Given the description of an element on the screen output the (x, y) to click on. 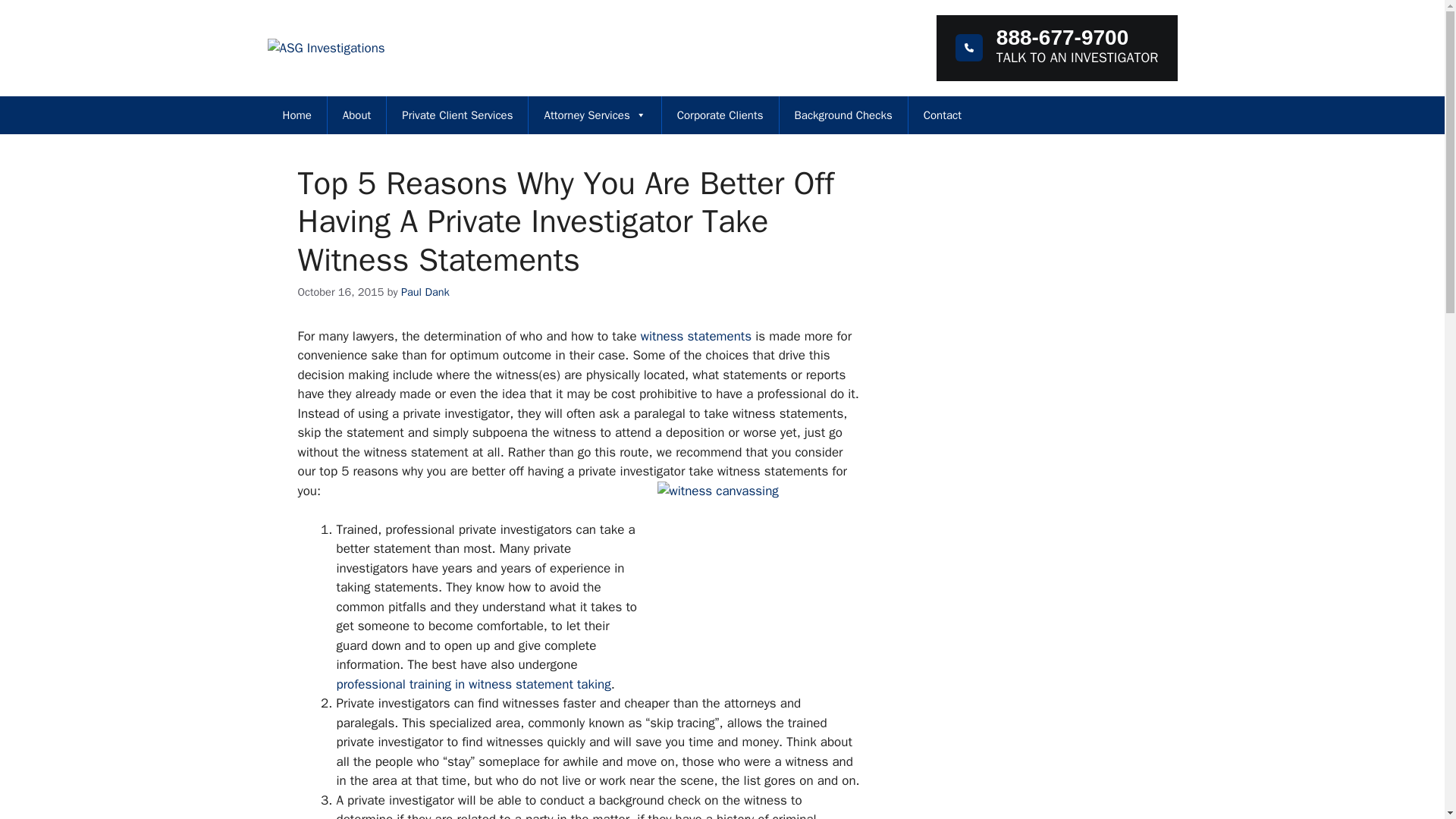
Private Client Services (457, 115)
Home (296, 115)
Contact (942, 115)
Attorney Services (594, 115)
View all posts by Paul Dank (425, 291)
witness canvassing (758, 583)
Background Checks (843, 115)
About (357, 115)
Corporate Clients (720, 115)
